Given the description of an element on the screen output the (x, y) to click on. 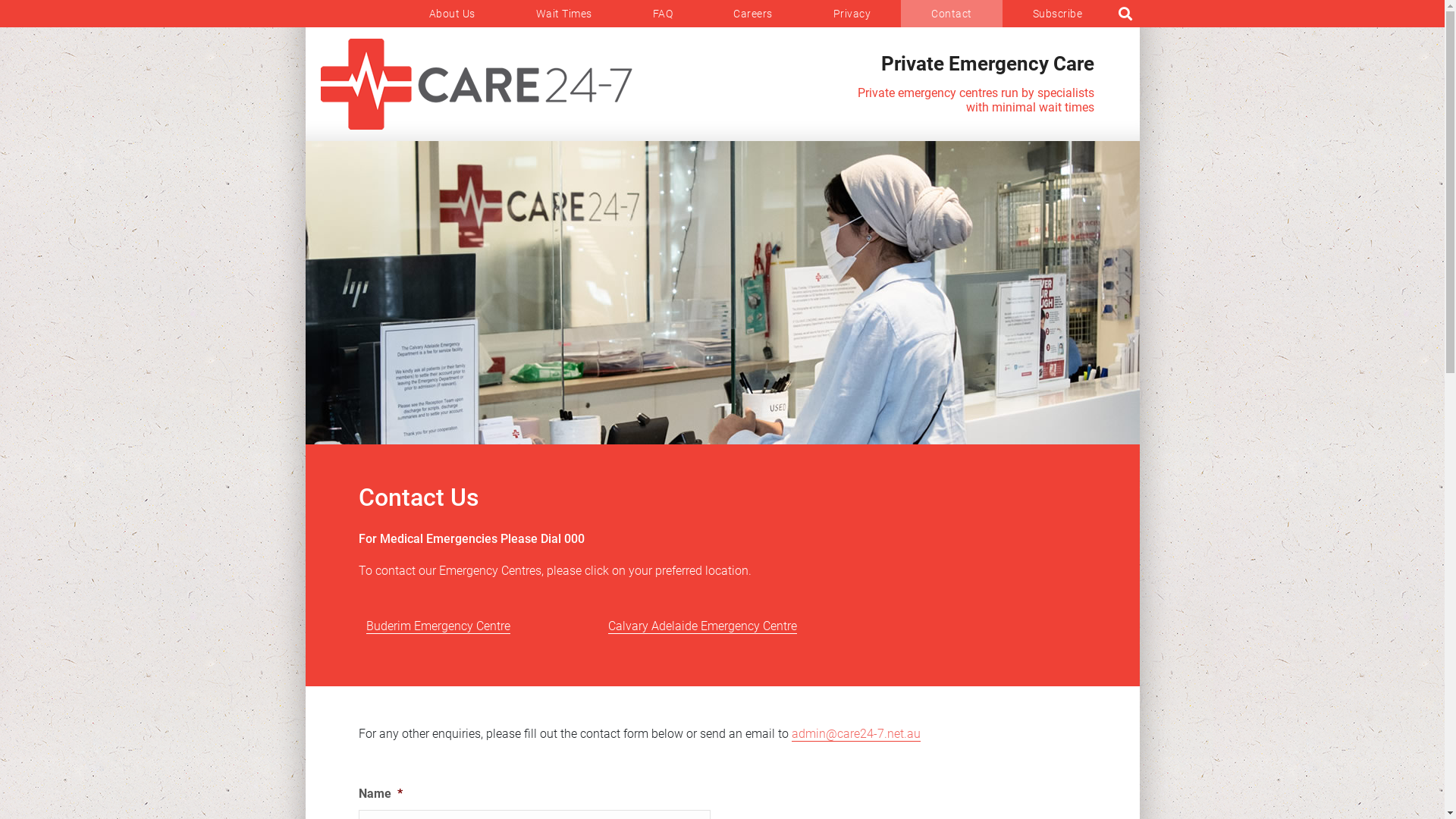
Subscribe Element type: text (1057, 13)
About Us Element type: text (451, 13)
Careers Element type: text (752, 13)
Wait Times Element type: text (563, 13)
Calvary Adelaide Emergency Centre Element type: text (702, 625)
FAQ Element type: text (661, 13)
Privacy Element type: text (851, 13)
Buderim Emergency Centre Element type: text (437, 625)
admin@care24-7.net.au Element type: text (855, 733)
Contact Element type: text (951, 13)
